Given the description of an element on the screen output the (x, y) to click on. 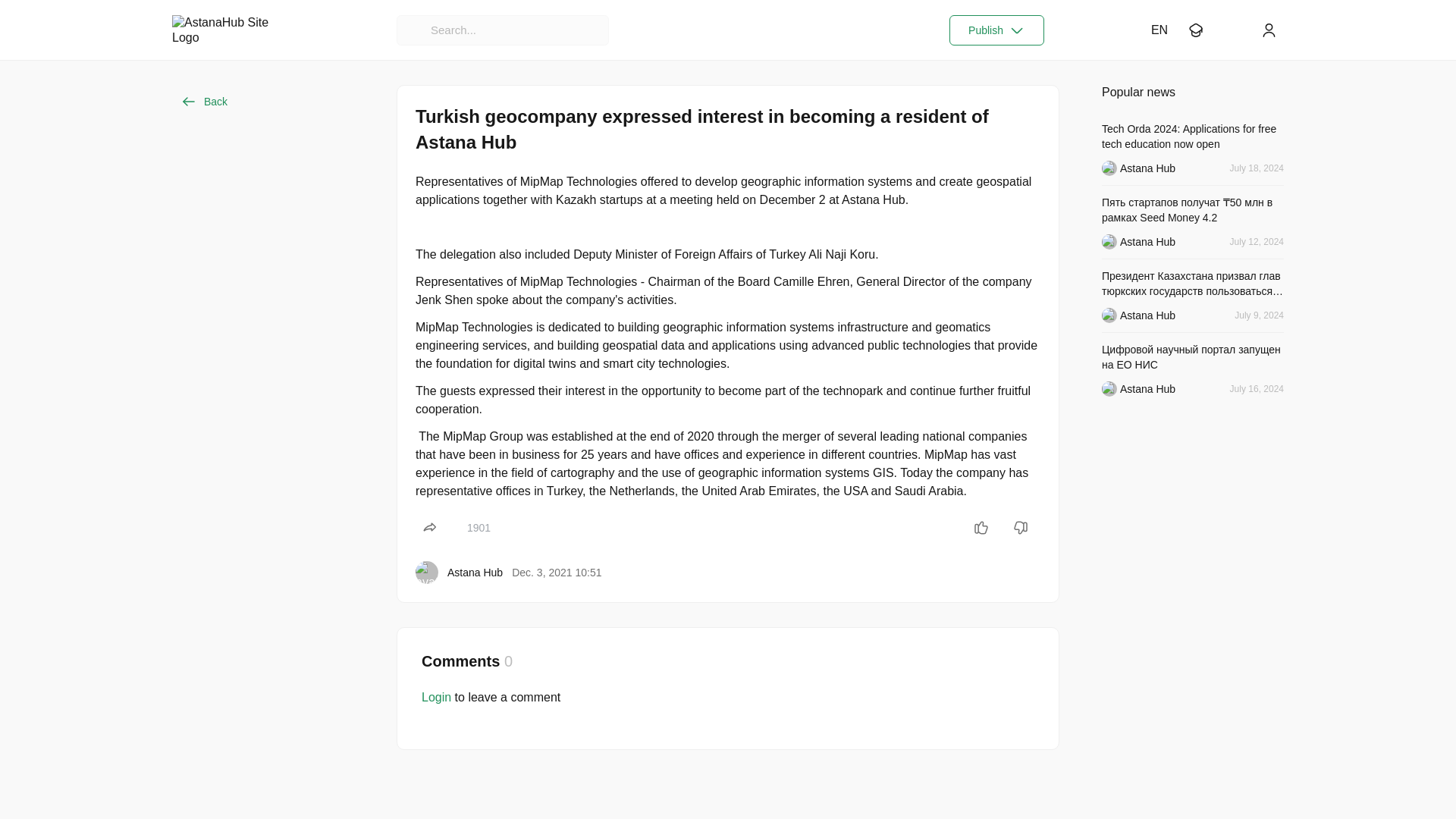
Back (203, 101)
